Given the description of an element on the screen output the (x, y) to click on. 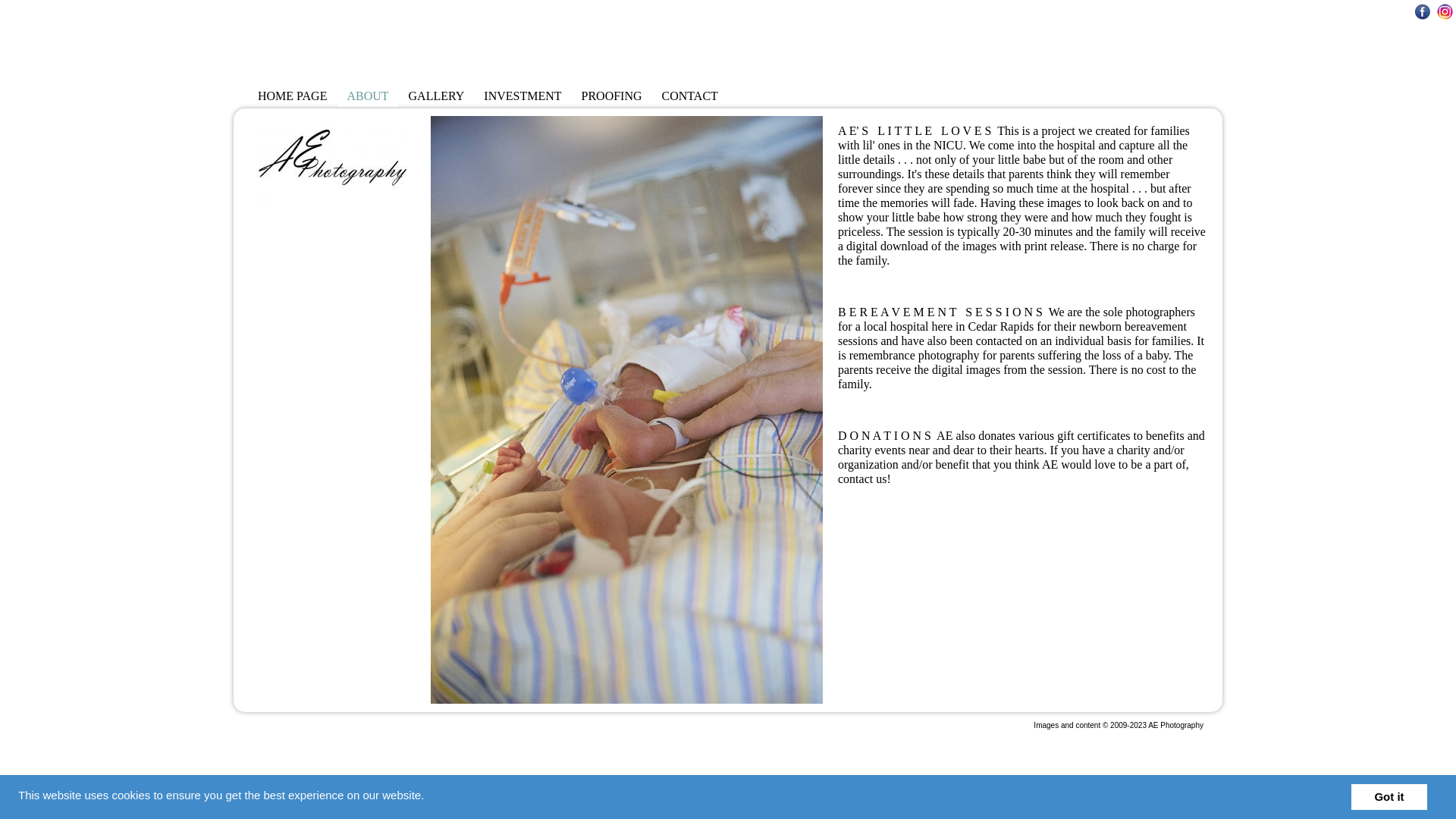
Instagram (1445, 11)
GALLERY (436, 95)
INVESTMENT (522, 95)
PROOFING (611, 95)
Facebook (1423, 11)
CONTACT (689, 95)
HOME PAGE (292, 95)
ABOUT (367, 95)
